Given the description of an element on the screen output the (x, y) to click on. 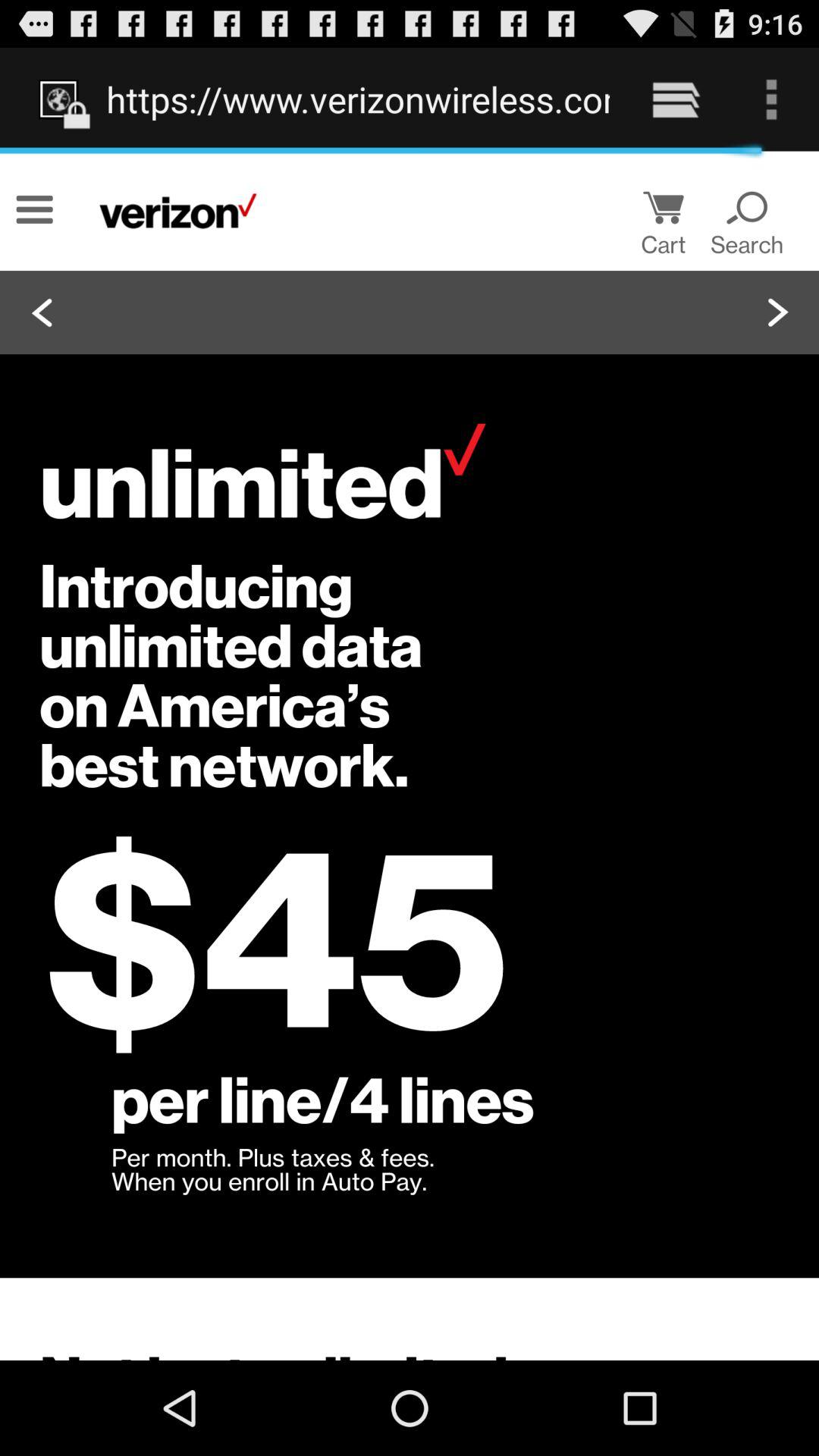
swipe until the https www verizonwireless (357, 99)
